Given the description of an element on the screen output the (x, y) to click on. 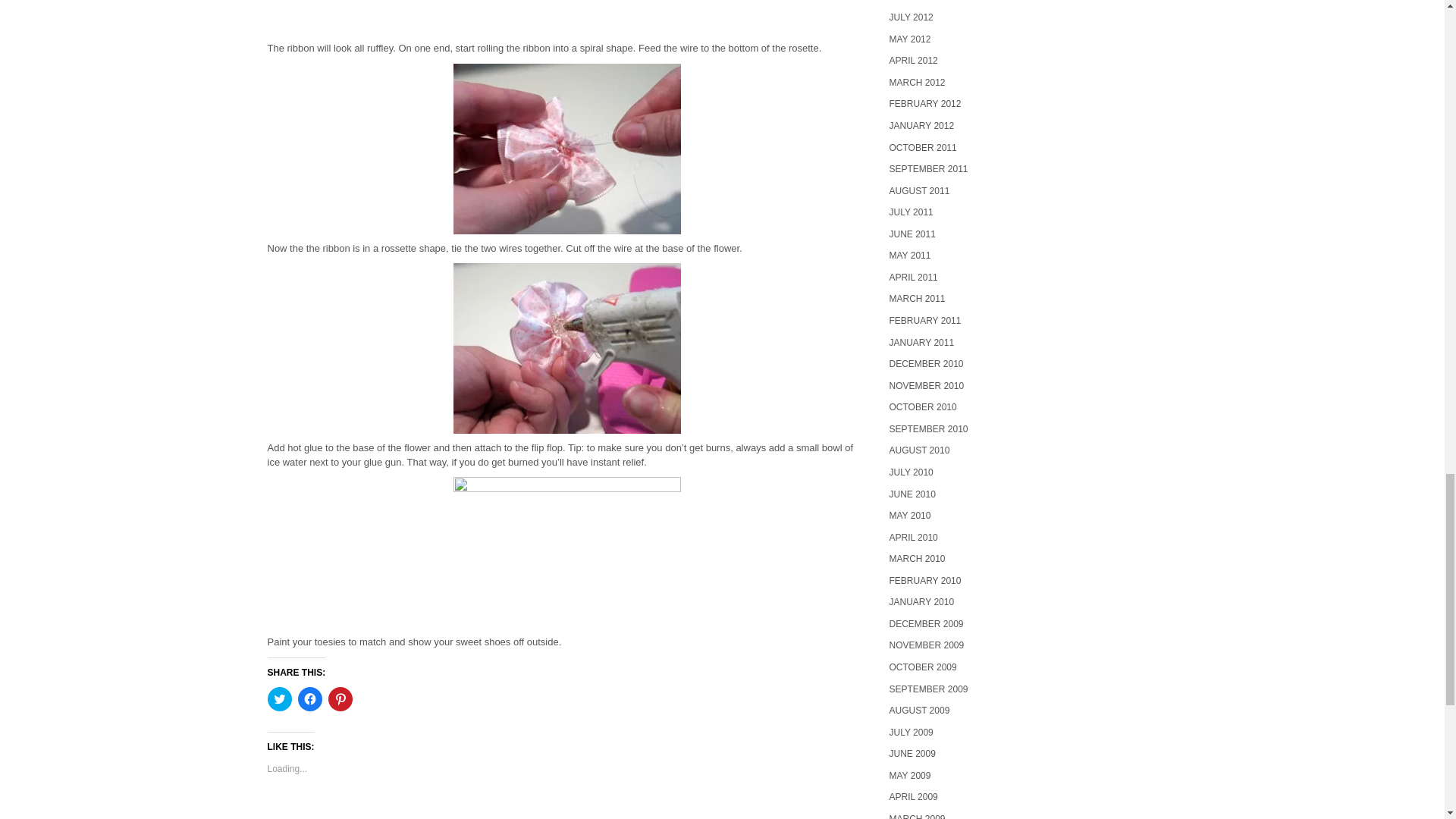
Click to share on Pinterest (339, 699)
flipflops1 (566, 552)
flipflops3 (566, 348)
flipflops5 (566, 17)
flipflops4 (566, 148)
Click to share on Twitter (278, 699)
Click to share on Facebook (309, 699)
